Given the description of an element on the screen output the (x, y) to click on. 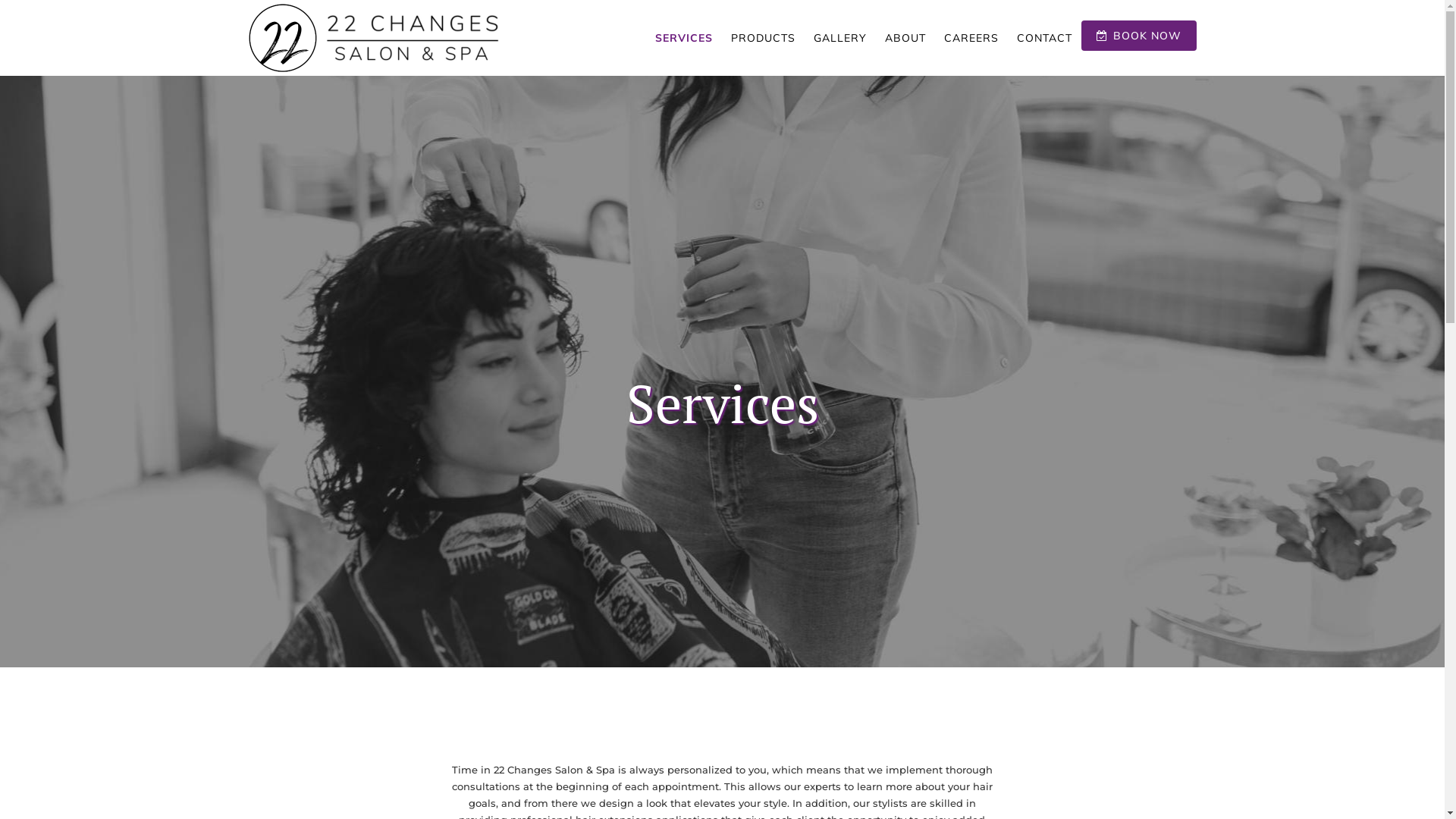
ABOUT Element type: text (904, 37)
SERVICES Element type: text (683, 37)
PRODUCTS Element type: text (762, 37)
BOOK NOW Element type: text (1138, 35)
GALLERY Element type: text (839, 37)
CONTACT Element type: text (1043, 37)
CAREERS Element type: text (970, 37)
